Given the description of an element on the screen output the (x, y) to click on. 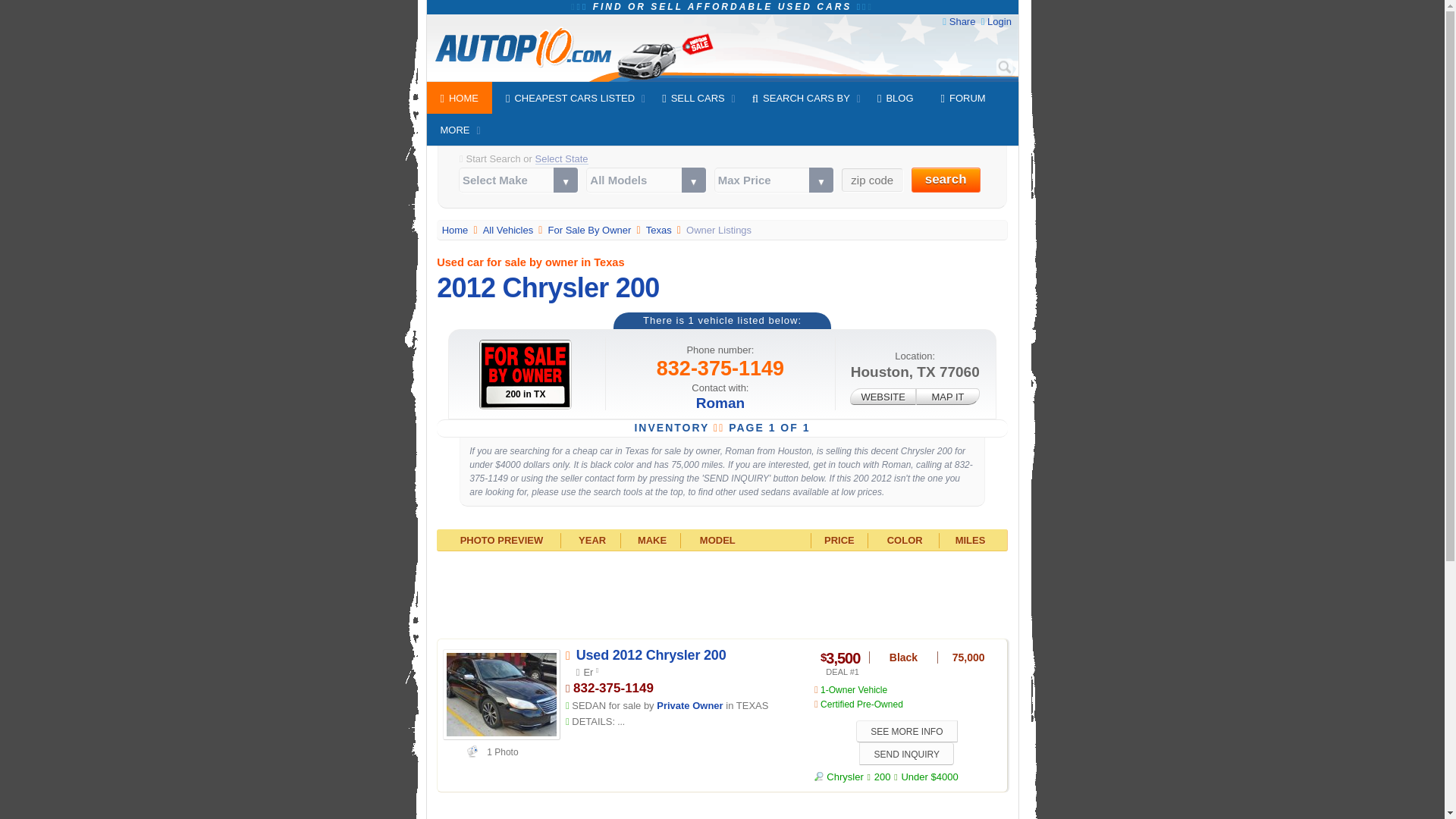
Login (999, 21)
Texas (660, 229)
All Vehicles (509, 229)
Autopten.com Home (456, 229)
Browse all cars listed in TX (660, 229)
search (945, 179)
SEARCH CARS BY (800, 97)
Private Owner (689, 705)
WEBSITE (882, 396)
Search (1004, 66)
Browse the entire listing of cars for sale (509, 229)
See all cars listed by private owners (590, 229)
Share (962, 21)
200 (883, 776)
MORE (454, 129)
